Given the description of an element on the screen output the (x, y) to click on. 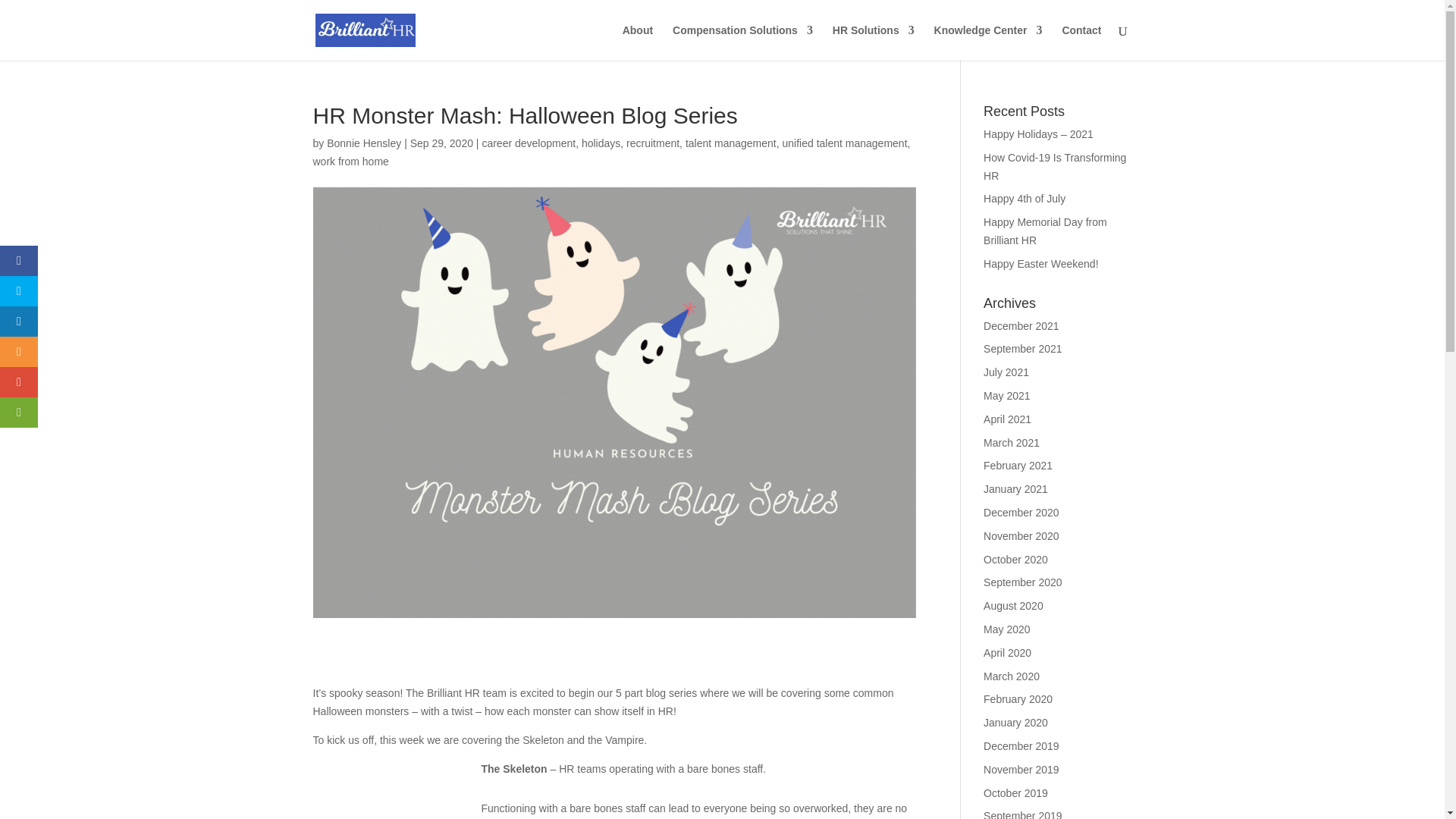
How Covid-19 Is Transforming HR (1054, 166)
Posts by Bonnie Hensley (363, 143)
holidays (600, 143)
September 2021 (1023, 348)
March 2021 (1011, 442)
Compensation Solutions (742, 42)
Happy Memorial Day from Brilliant HR (1045, 231)
April 2021 (1007, 419)
Contact (1080, 42)
July 2021 (1006, 372)
HR Solutions (873, 42)
unified talent management (845, 143)
Knowledge Center (988, 42)
May 2021 (1006, 395)
talent management (730, 143)
